Given the description of an element on the screen output the (x, y) to click on. 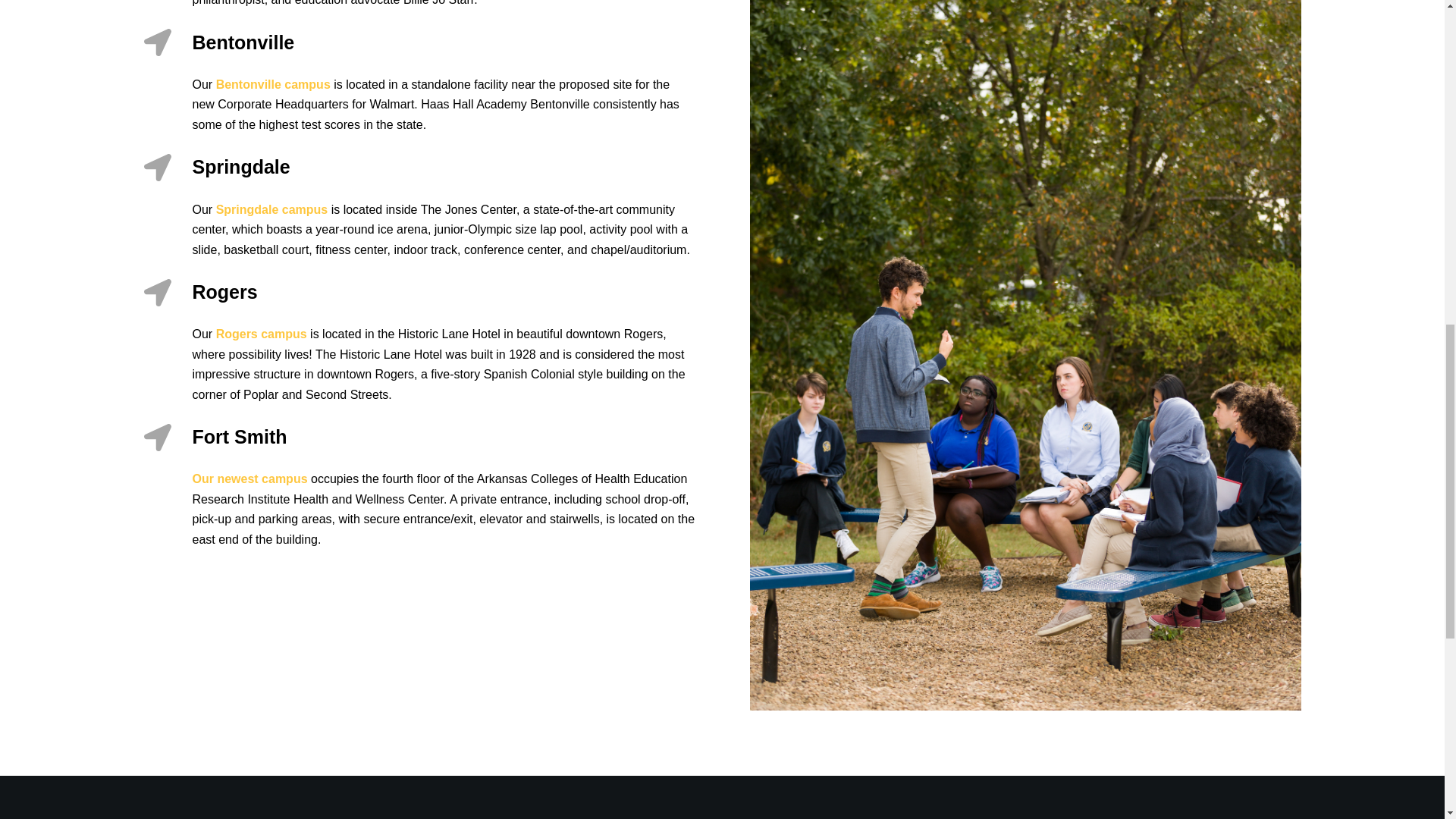
Our newest campus (251, 478)
Rogers campus (261, 333)
Bentonville campus (272, 83)
Springdale campus (272, 209)
